Given the description of an element on the screen output the (x, y) to click on. 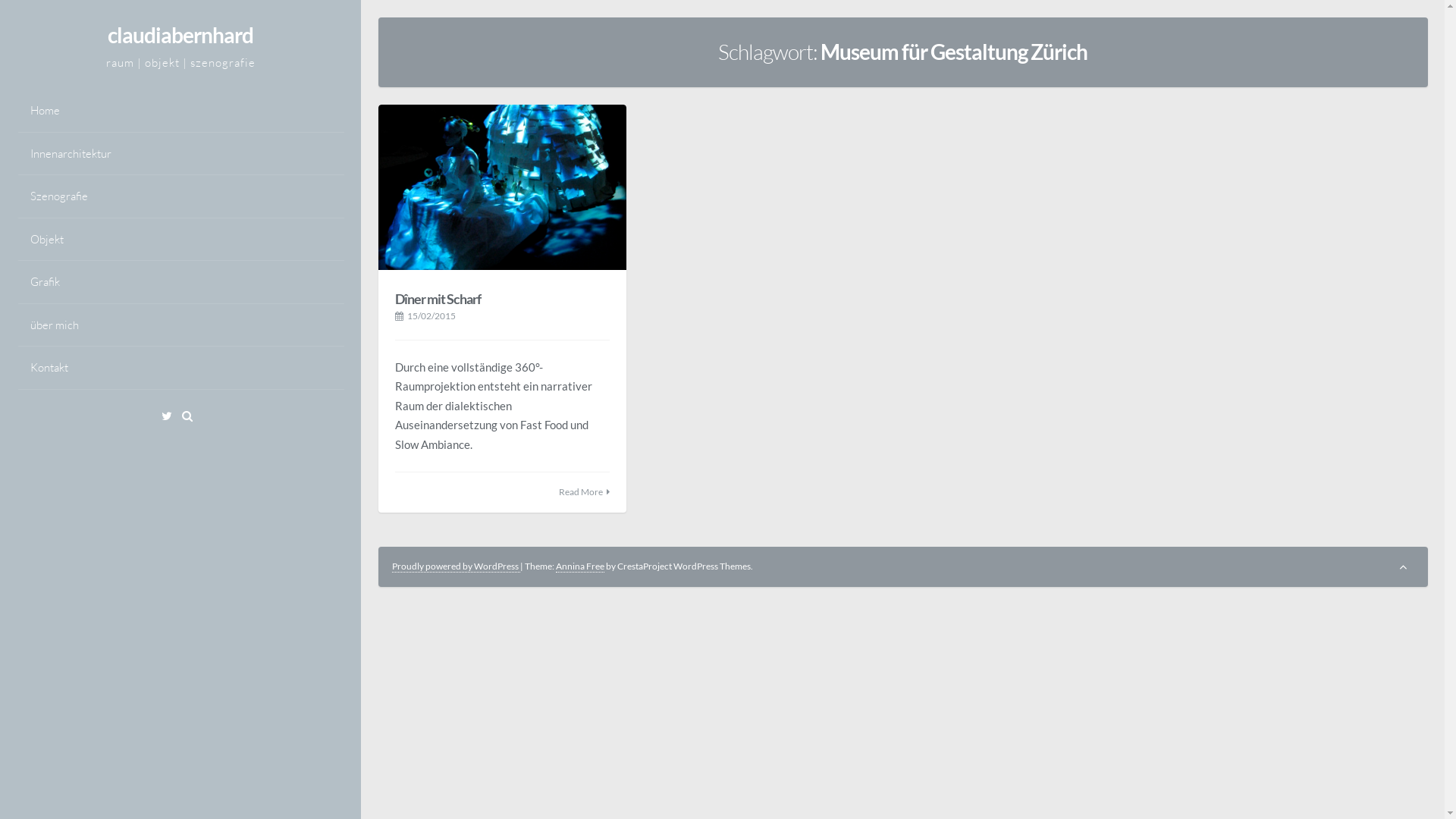
Twitter Element type: text (170, 415)
Objekt Element type: text (179, 239)
Annina Free Element type: text (579, 566)
Read More Element type: text (580, 491)
Szenografie Element type: text (179, 196)
Grafik Element type: text (179, 282)
Home Element type: text (179, 110)
Kontakt Element type: text (179, 367)
Proudly powered by WordPress Element type: text (456, 566)
15/02/2015 Element type: text (431, 315)
claudiabernhard Element type: text (180, 34)
Innenarchitektur Element type: text (179, 153)
